Given the description of an element on the screen output the (x, y) to click on. 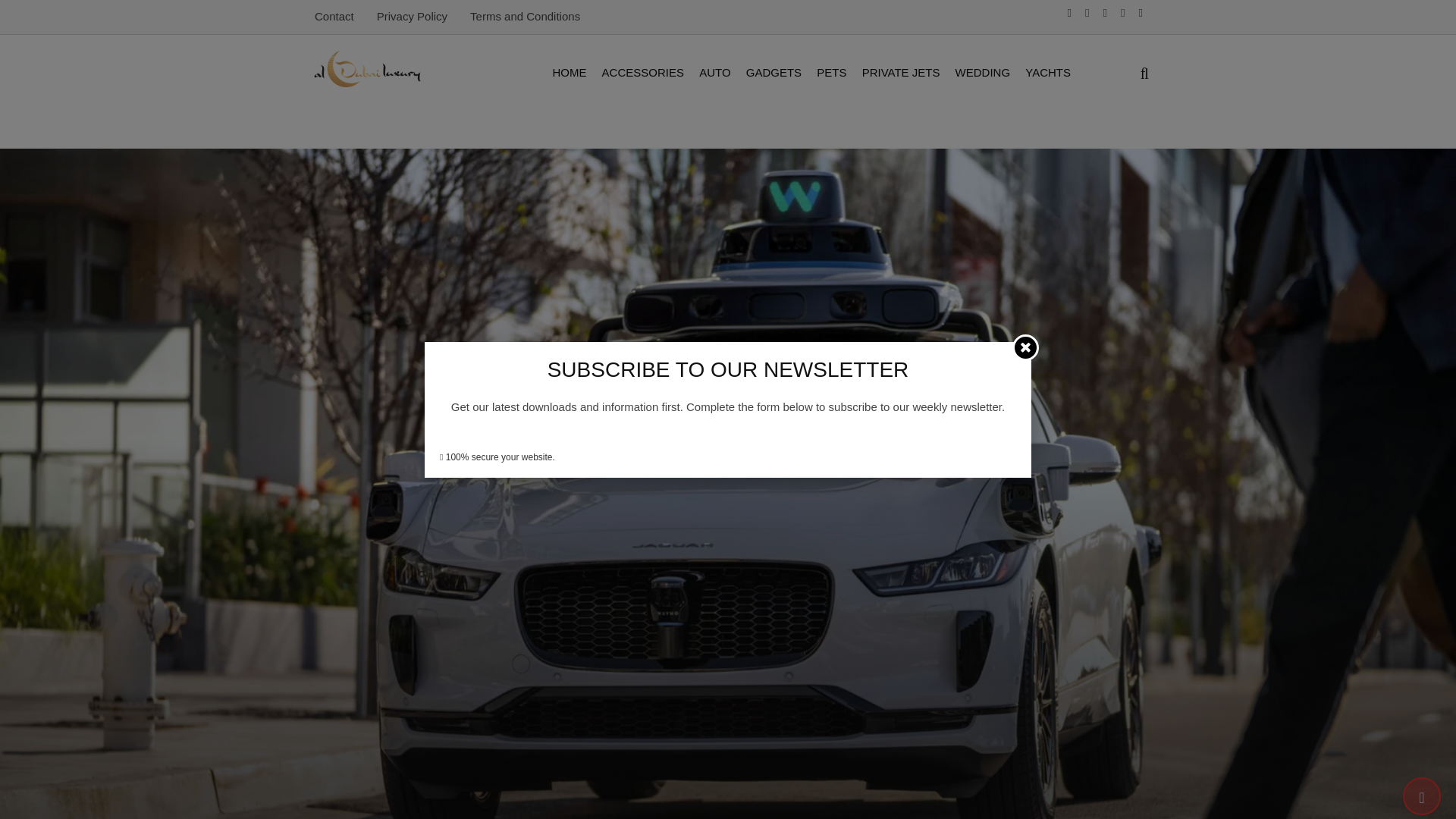
GADGETS (773, 72)
PRIVATE JETS (901, 72)
Terms and Conditions (524, 15)
ACCESSORIES (642, 72)
Privacy Policy (411, 15)
Contact (333, 15)
WEDDING (982, 72)
